Given the description of an element on the screen output the (x, y) to click on. 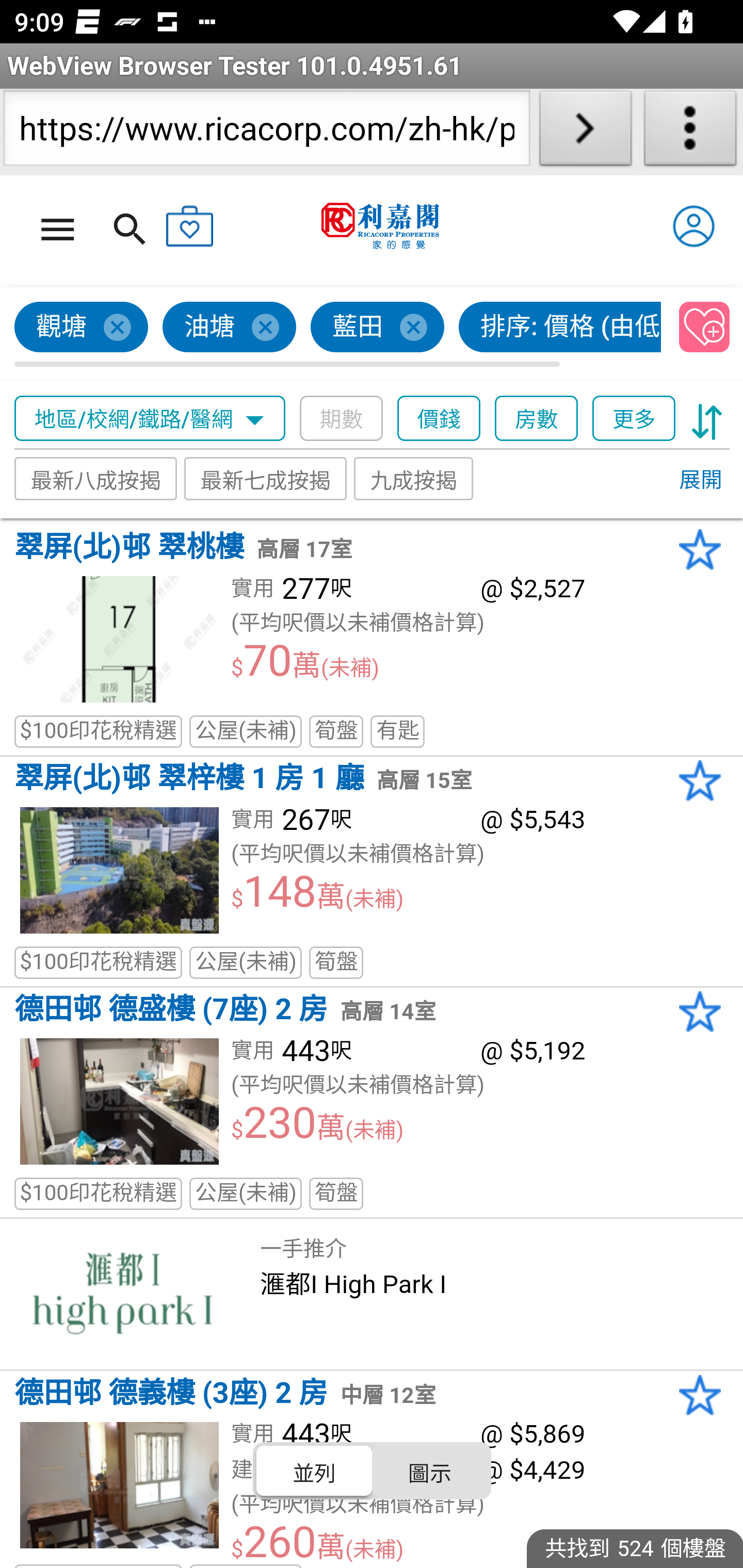
Load URL (585, 132)
About WebView (690, 132)
觀塘 (81, 327)
油塘 (229, 327)
藍田 (377, 327)
排序: 價格 (由低至高) (560, 327)
save (705, 327)
地區/校網/鐵路/醫網 (150, 418)
期數 (341, 418)
價錢 (439, 418)
房數 (536, 418)
更多 (634, 418)
sort (706, 418)
最新八成按揭 (96, 478)
最新七成按揭 (266, 478)
九成按揭 (413, 478)
展開 (699, 481)
並列 (314, 1470)
圖示 (429, 1470)
